Given the description of an element on the screen output the (x, y) to click on. 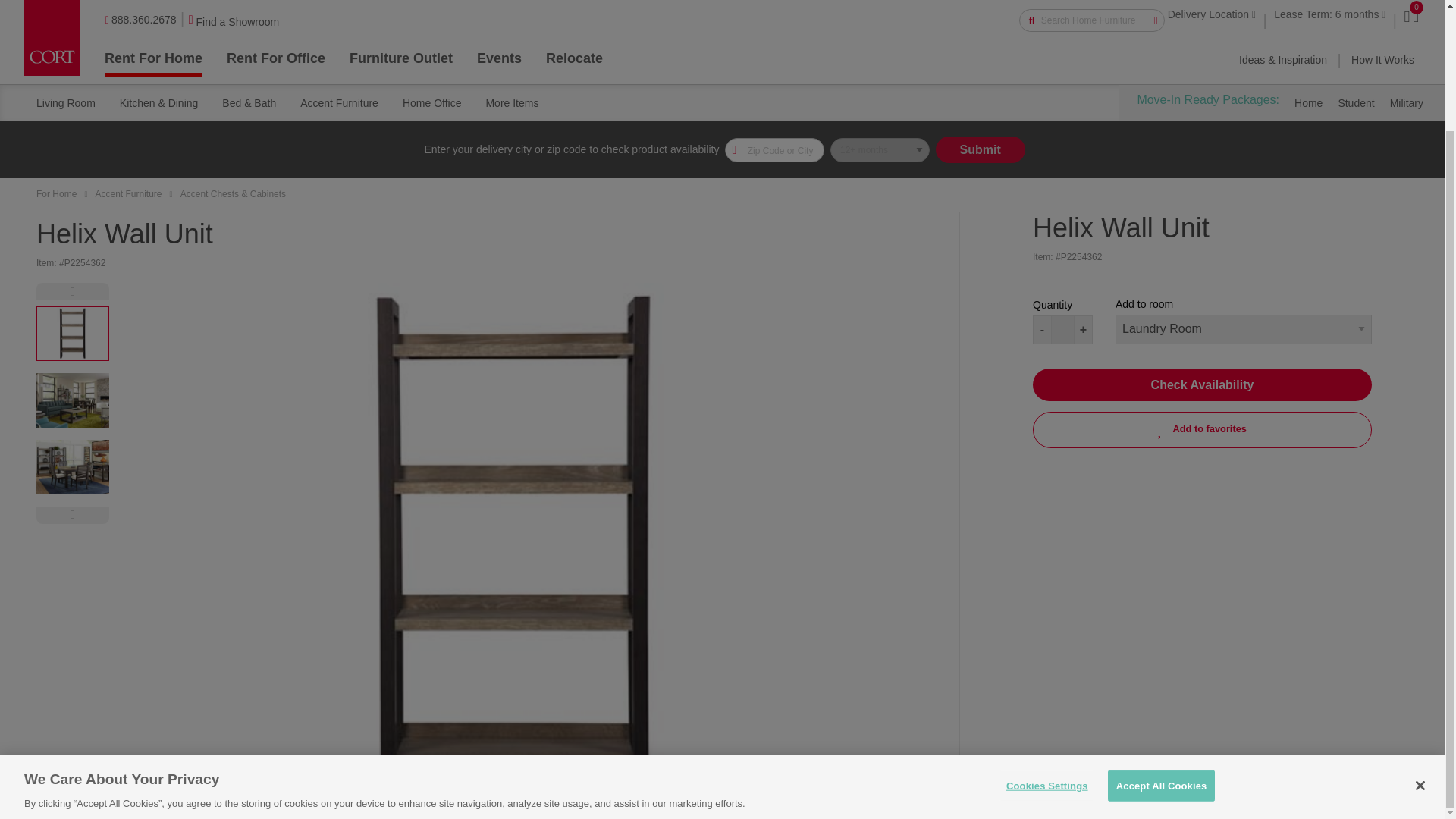
Rent For Home (153, 61)
888.360.2678 (140, 24)
open mini cart link (1415, 20)
Find a Showroom (235, 26)
